Given the description of an element on the screen output the (x, y) to click on. 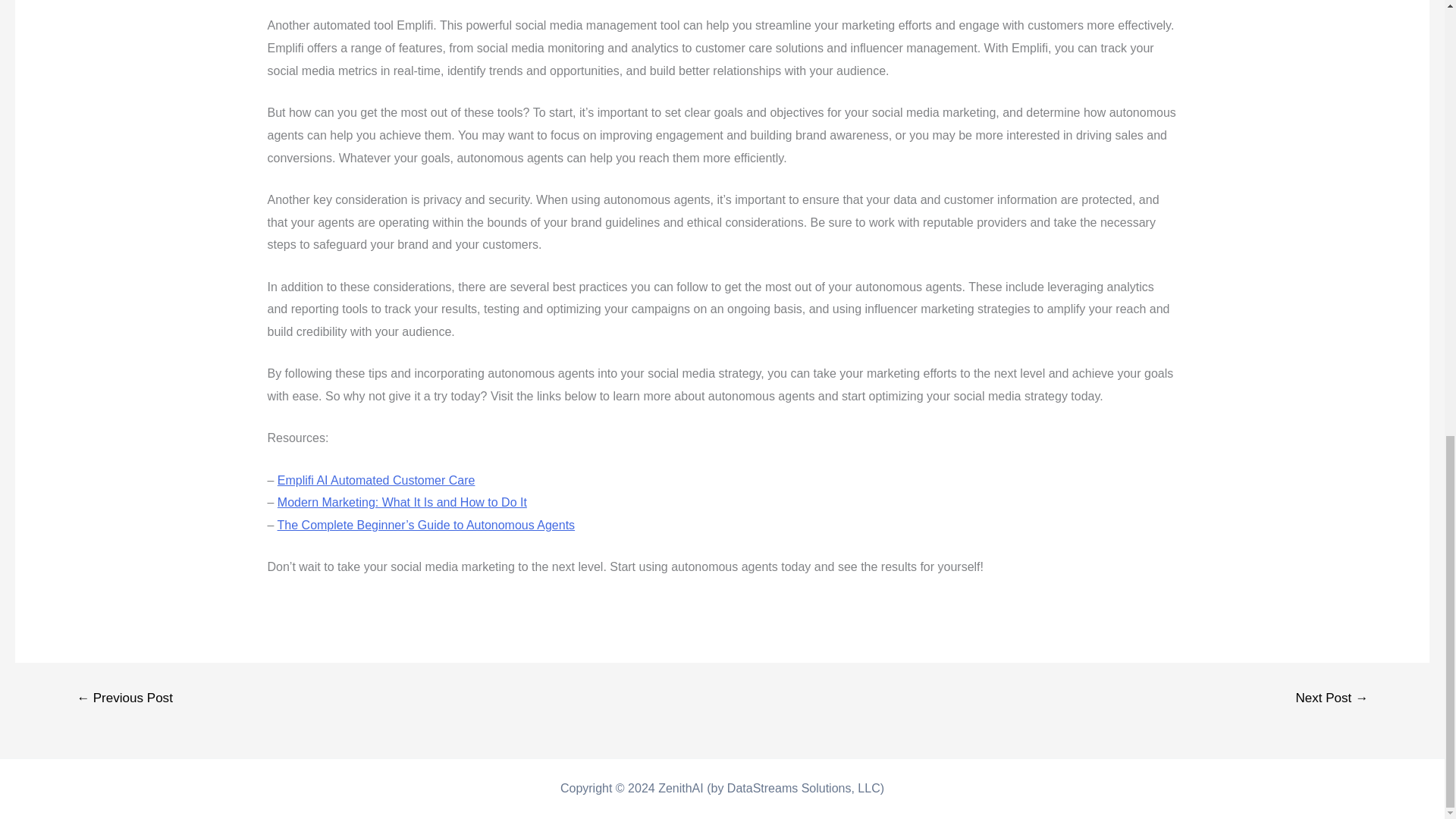
Emplifi AI Automated Customer Care (377, 480)
Modern Marketing: What It Is and How to Do It (402, 502)
Emplifi AI Automated Customer Care (377, 480)
Modern Marketing: What It Is and How to Do It (402, 502)
